Given the description of an element on the screen output the (x, y) to click on. 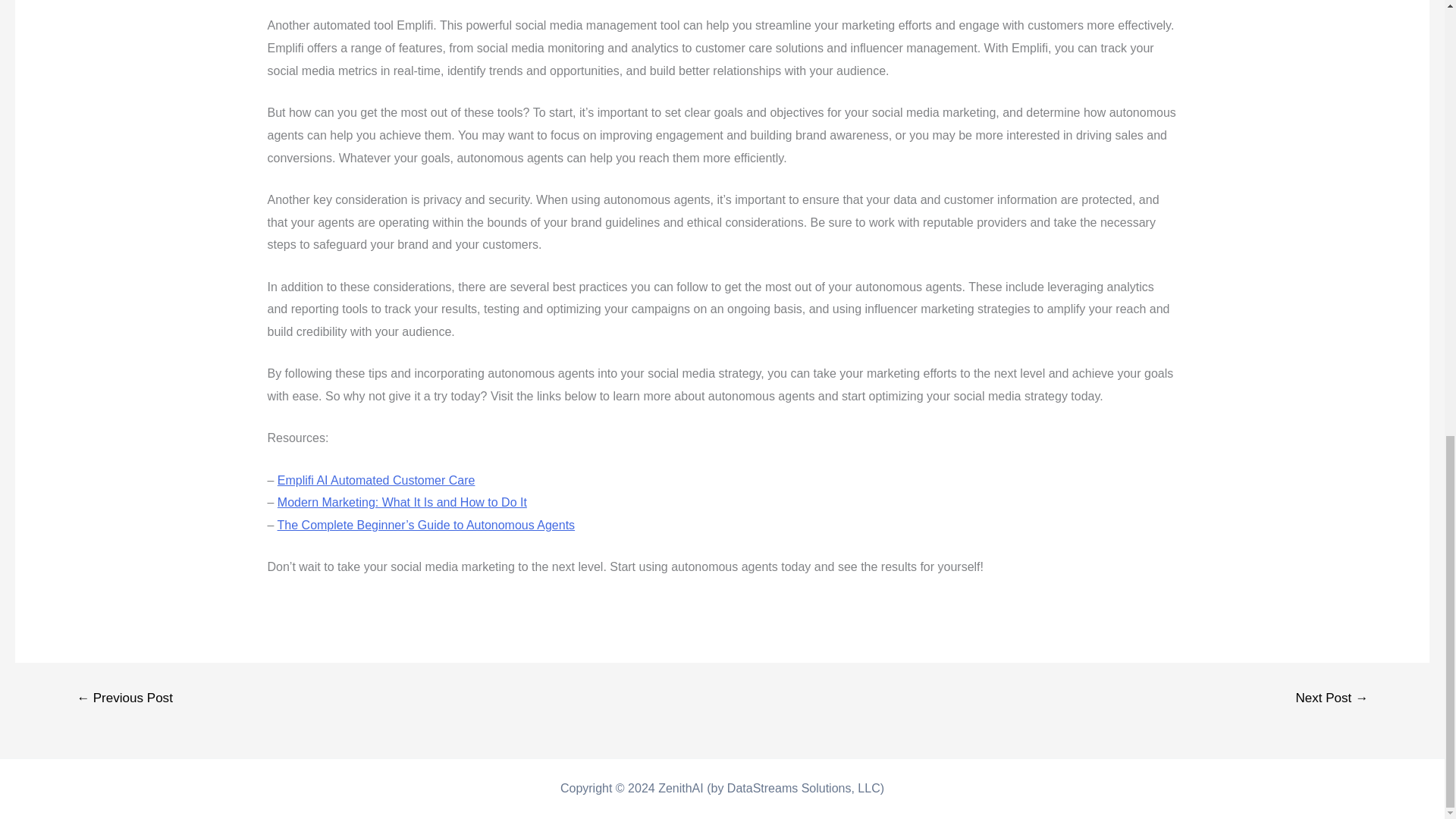
Emplifi AI Automated Customer Care (377, 480)
Modern Marketing: What It Is and How to Do It (402, 502)
Emplifi AI Automated Customer Care (377, 480)
Modern Marketing: What It Is and How to Do It (402, 502)
